Given the description of an element on the screen output the (x, y) to click on. 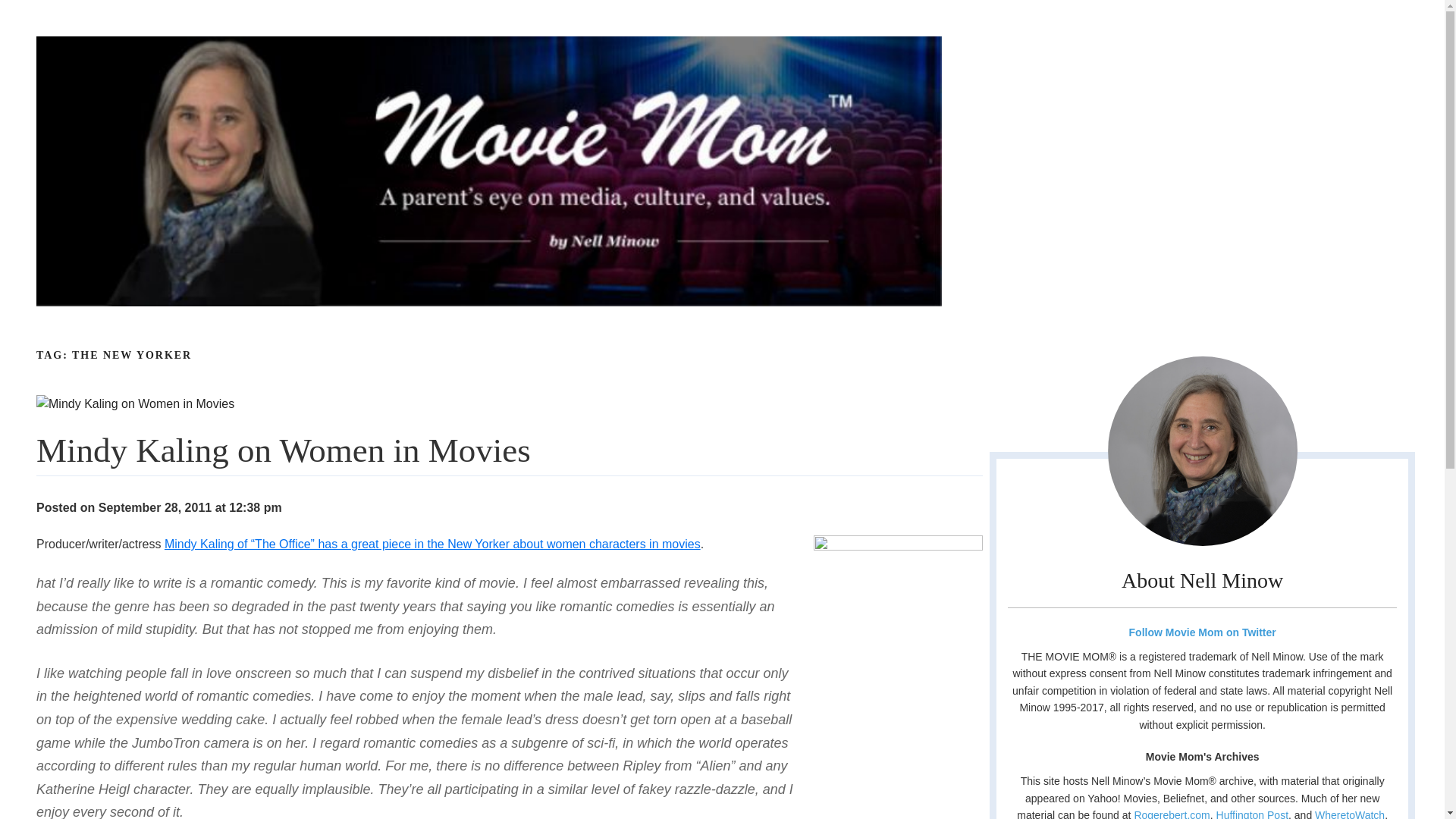
Mindy Kaling on Women in Movies (135, 403)
WheretoWatch (1349, 814)
Rogerebert.com (1171, 814)
Follow Movie Mom on Twitter (1201, 632)
Huffington Post (1251, 814)
